Given the description of an element on the screen output the (x, y) to click on. 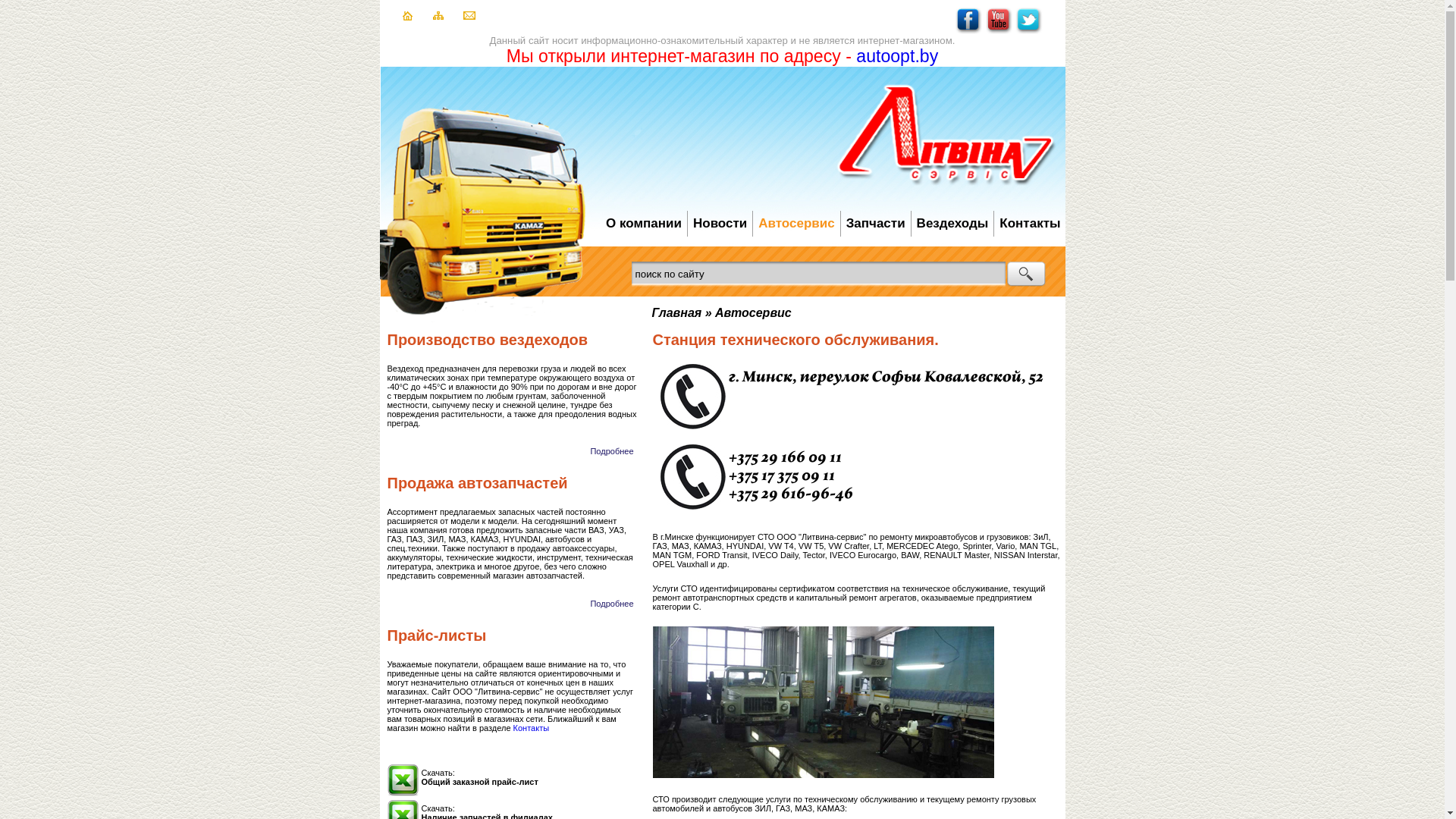
twitter Element type: hover (1027, 30)
home Element type: hover (406, 16)
autoopt.by Element type: text (897, 55)
youtube Element type: hover (998, 30)
sitemap Element type: hover (437, 16)
mail Element type: hover (468, 16)
facebook Element type: hover (968, 30)
